Given the description of an element on the screen output the (x, y) to click on. 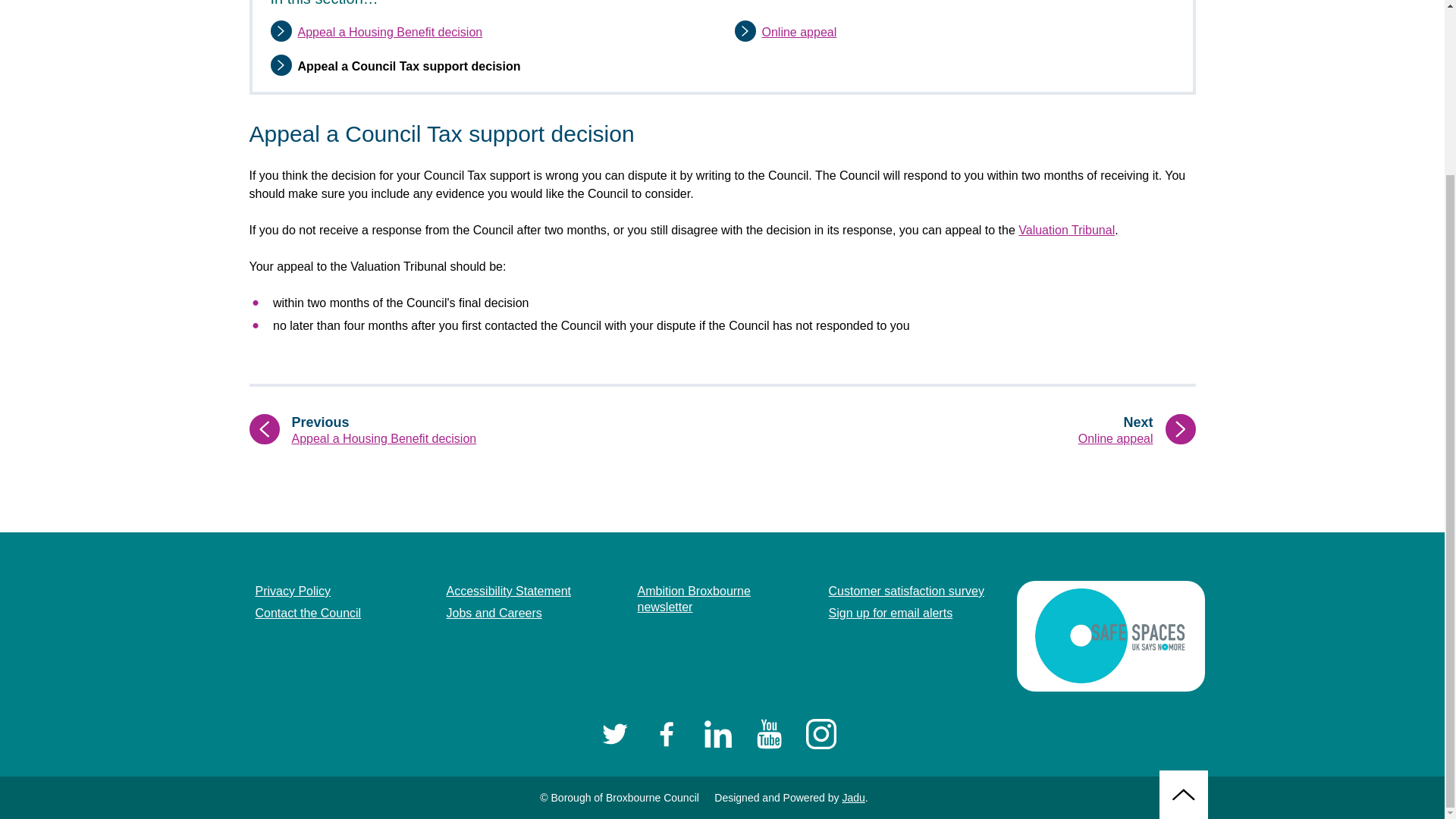
Customer satisfaction survey (906, 591)
Facebook (976, 430)
Ambition Broxbourne newsletter (666, 733)
Contact the Council (720, 599)
Appeal a Housing Benefit decision (307, 613)
Twitter (389, 31)
Privacy Policy (613, 733)
Valuation Tribunal (292, 591)
LinkedIn (1066, 229)
Jobs and Careers (716, 733)
YouTube (493, 613)
Online appeal (769, 733)
Accessibility Statement (798, 31)
